Given the description of an element on the screen output the (x, y) to click on. 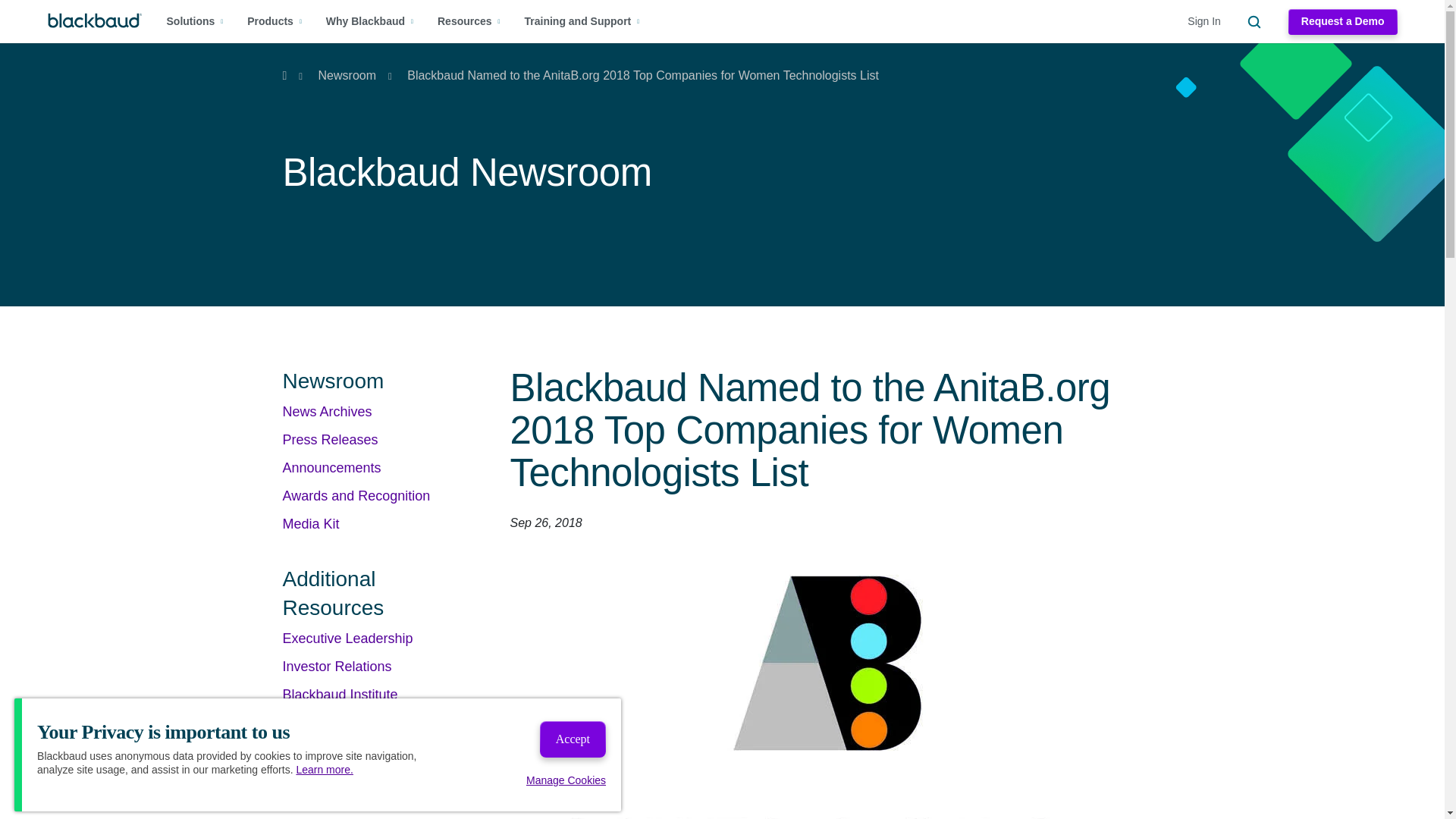
Solutions (195, 21)
Products (274, 21)
Why Blackbaud (369, 21)
Resources (469, 21)
